Given the description of an element on the screen output the (x, y) to click on. 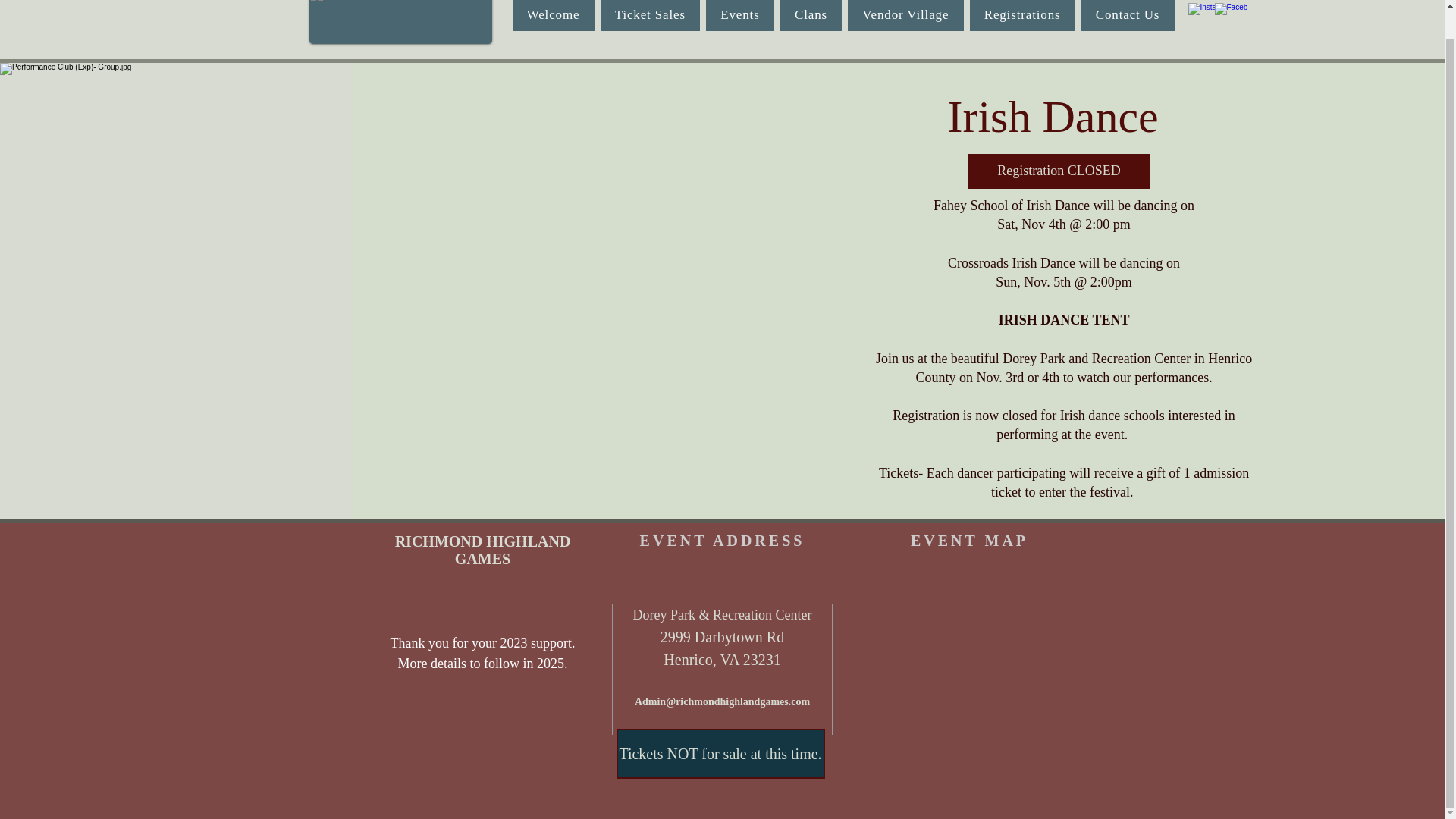
Registrations (1022, 15)
Ticket Sales (649, 15)
Registration CLOSED (1059, 171)
Contact Us (1127, 15)
Clans (810, 15)
Vendor Village (904, 15)
Welcome (553, 15)
